Given the description of an element on the screen output the (x, y) to click on. 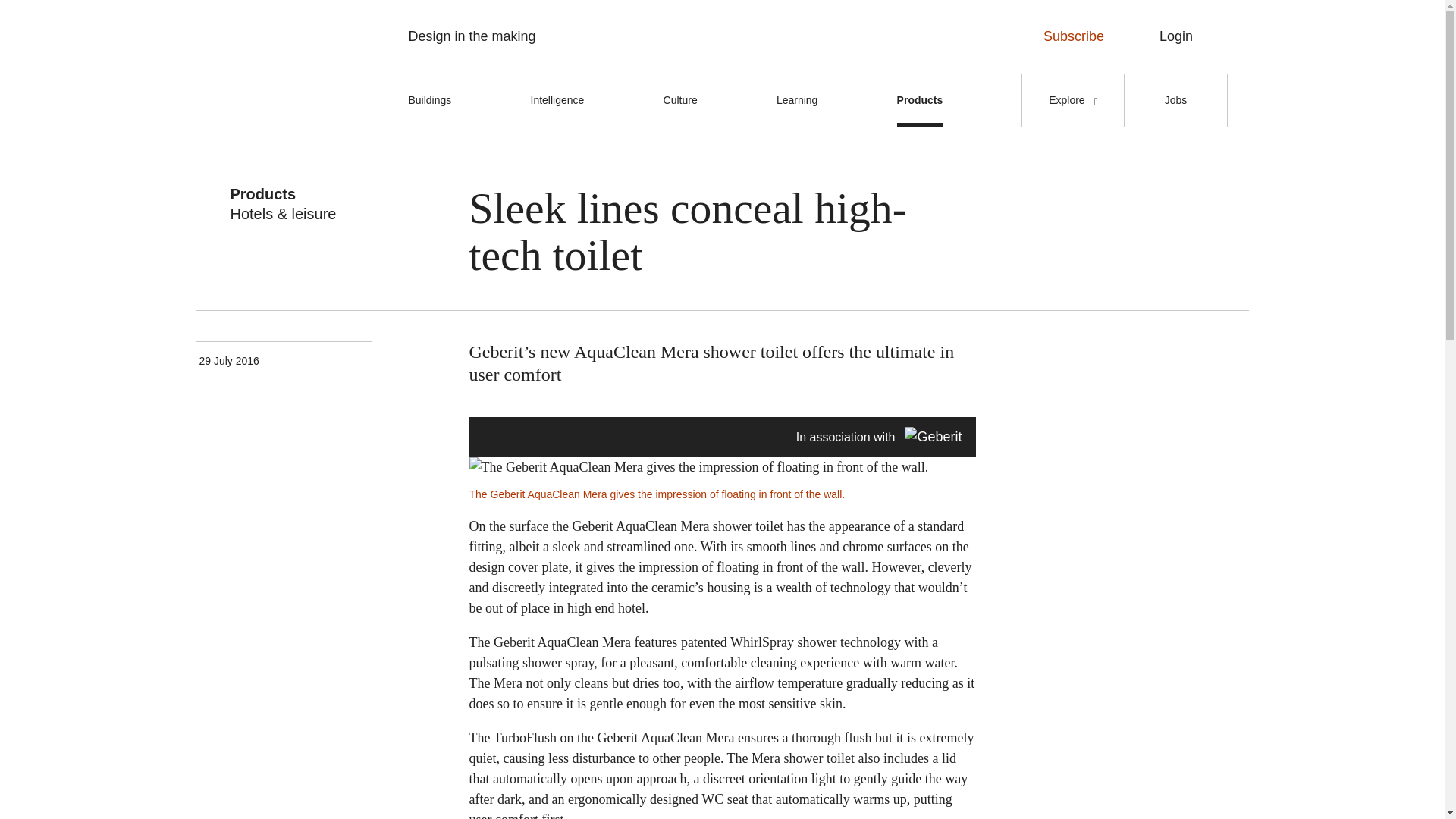
Intelligence (558, 100)
Subscribe (1073, 36)
RIBAJ (277, 62)
Jobs (1174, 100)
Login (1176, 36)
Explore (1073, 100)
